Given the description of an element on the screen output the (x, y) to click on. 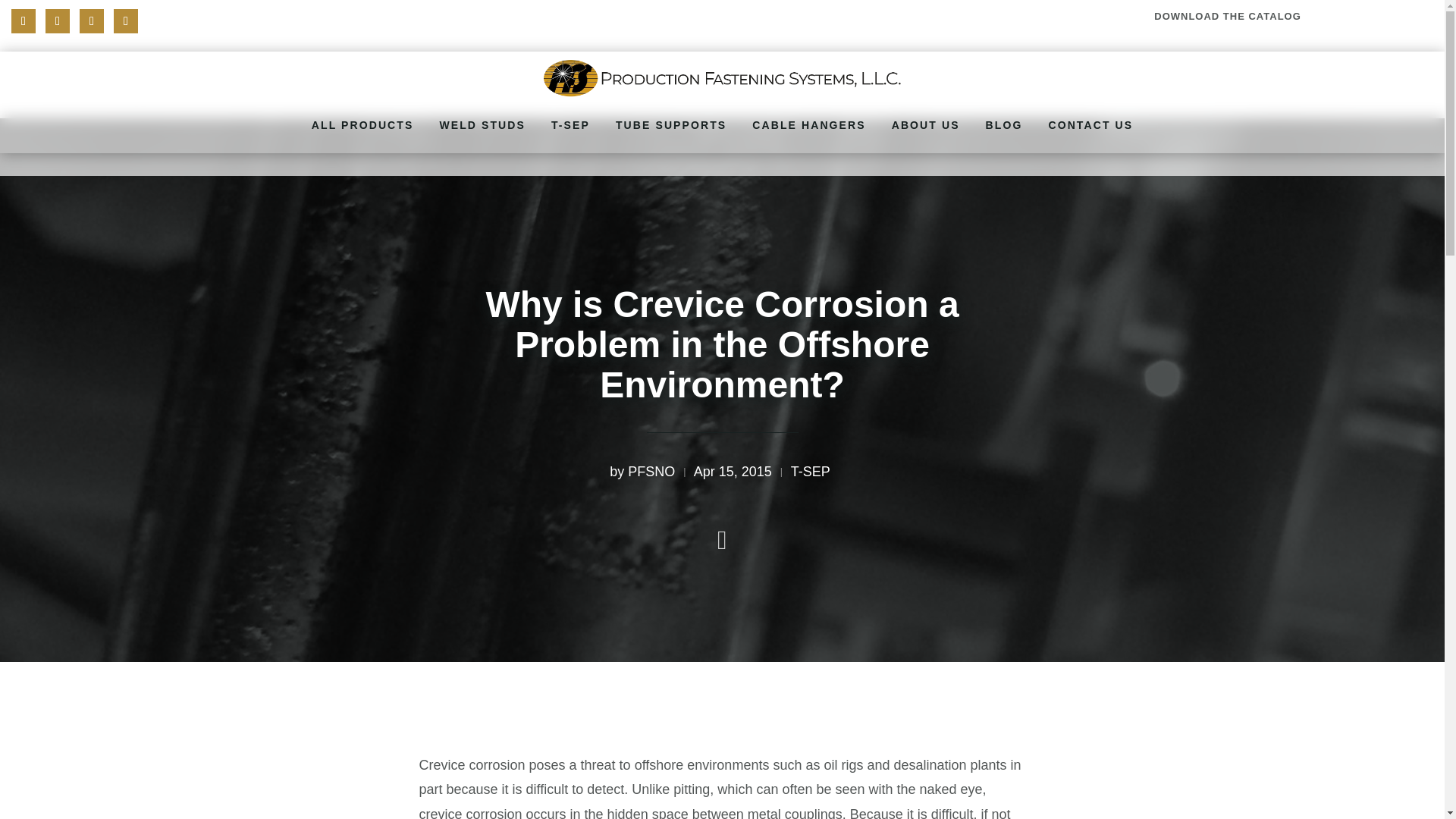
CABLE HANGERS (808, 125)
DOWNLOAD THE CATALOG (1227, 16)
TUBE SUPPORTS (670, 125)
ABOUT US (924, 125)
Posts by PFSNO (651, 471)
Follow on Youtube (91, 21)
Follow on LinkedIn (125, 21)
Follow on X (57, 21)
WELD STUDS (481, 125)
ALL PRODUCTS (363, 125)
CONTACT US (1090, 125)
Follow on Facebook (22, 21)
